Given the description of an element on the screen output the (x, y) to click on. 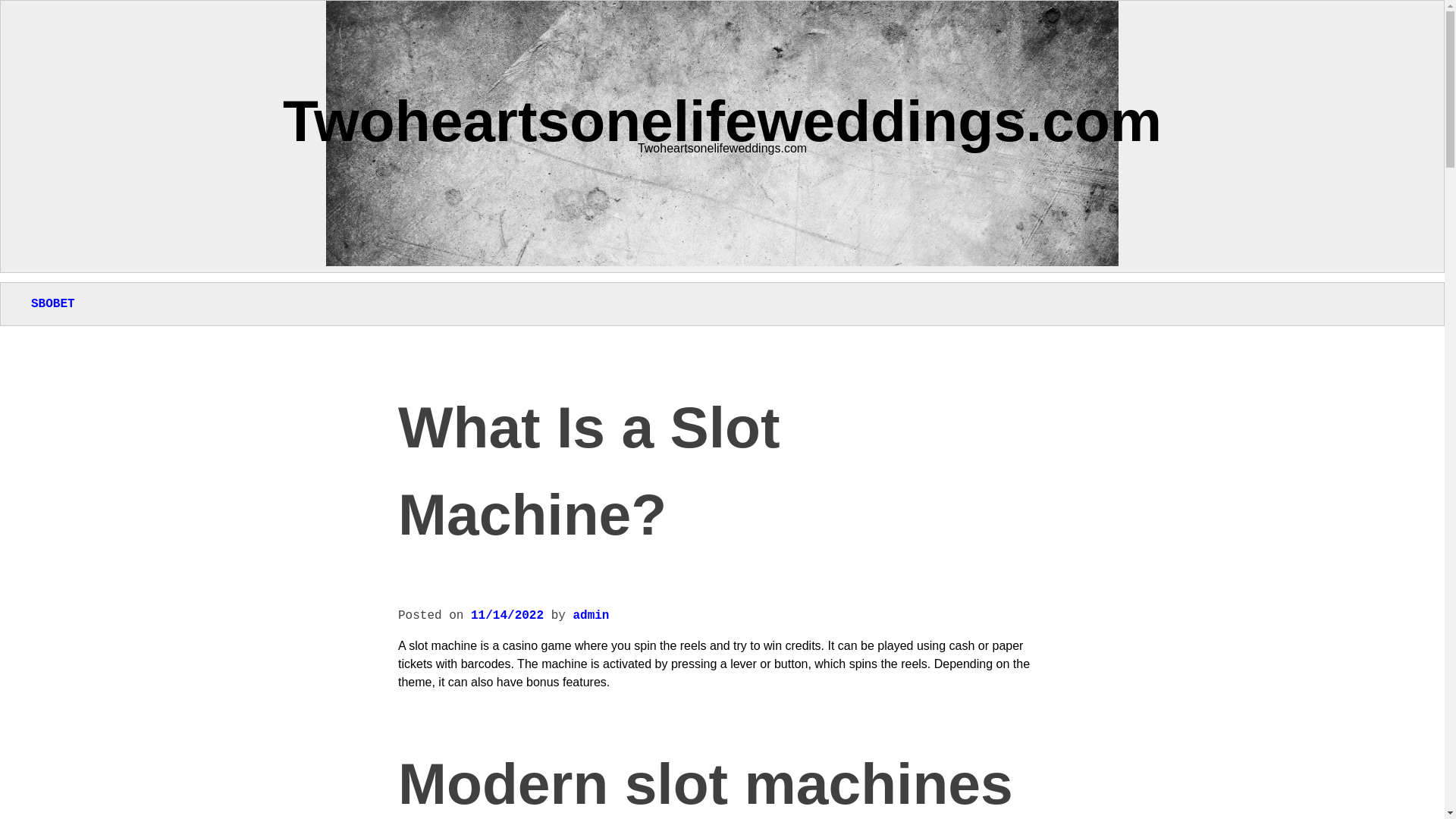
Twoheartsonelifeweddings.com (721, 120)
SBOBET (52, 304)
admin (590, 615)
